Given the description of an element on the screen output the (x, y) to click on. 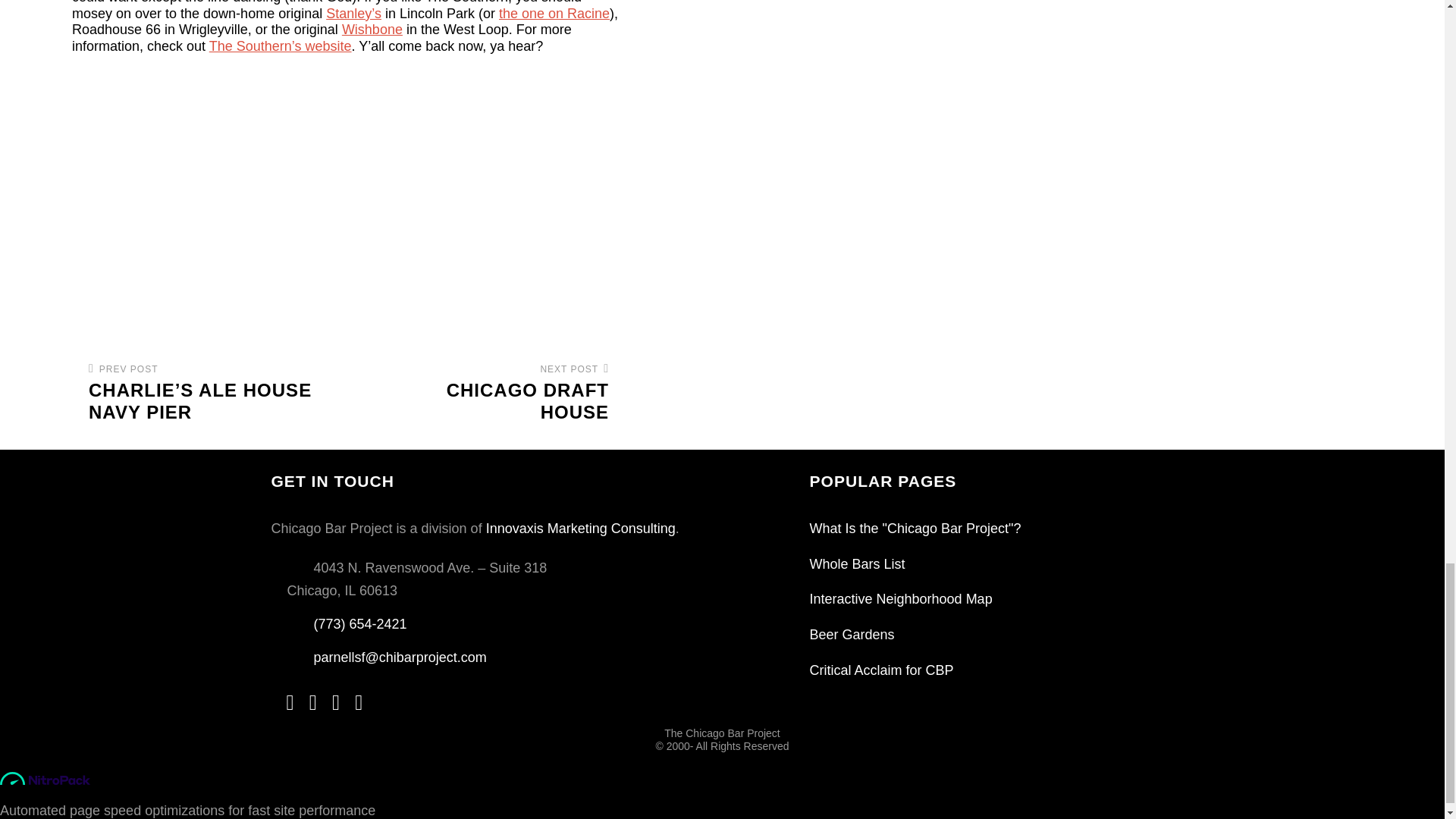
Wishbone (372, 29)
the one on Racine (494, 393)
